Given the description of an element on the screen output the (x, y) to click on. 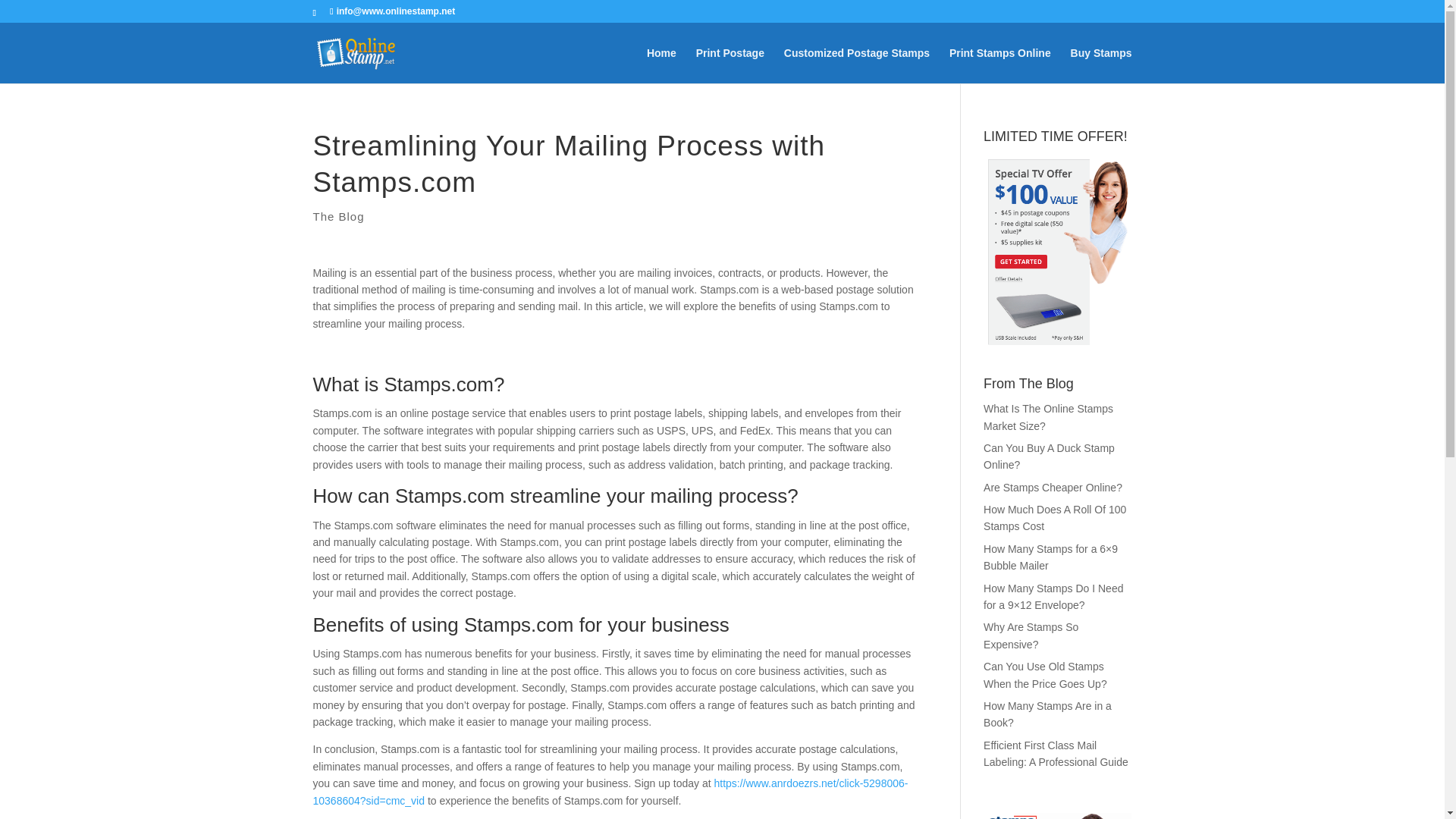
How Many Stamps Are in a Book? (1048, 714)
Print Postage (729, 65)
Can You Use Old Stamps When the Price Goes Up? (1045, 674)
Buy Stamps (1101, 65)
The Blog (338, 215)
Efficient First Class Mail Labeling: A Professional Guide (1056, 753)
What Is The Online Stamps Market Size? (1048, 416)
How Much Does A Roll Of 100 Stamps Cost (1054, 517)
Why Are Stamps So Expensive? (1031, 635)
Customized Postage Stamps (857, 65)
